Given the description of an element on the screen output the (x, y) to click on. 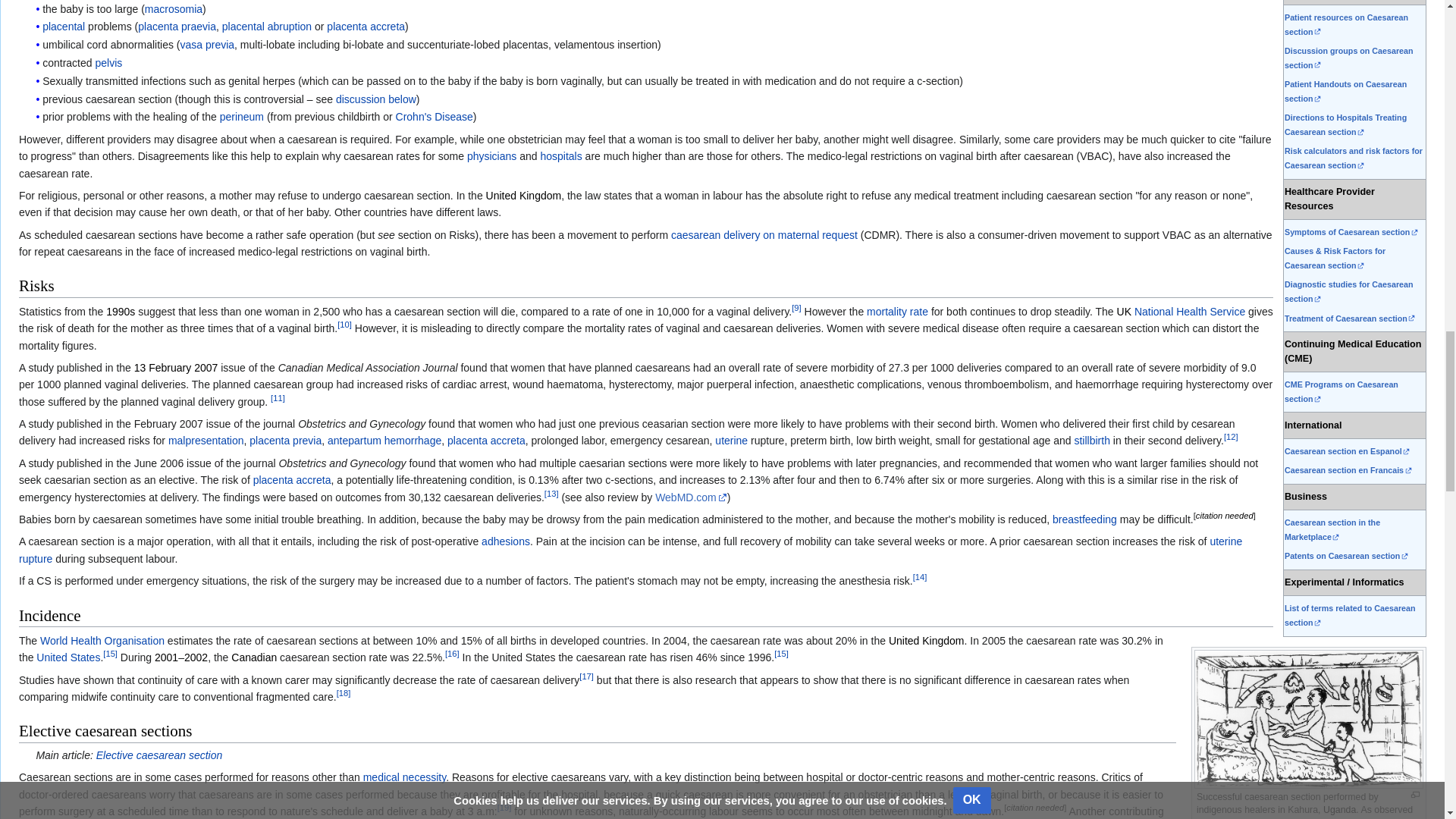
Risk calculators and risk factors for Caesarean section (1353, 157)
Directions to Hospitals Treating Caesarean section (1345, 124)
Patient resources on Caesarean section (1345, 24)
Patient Handouts on Caesarean section (1345, 91)
Discussion groups on Caesarean section (1348, 57)
